Given the description of an element on the screen output the (x, y) to click on. 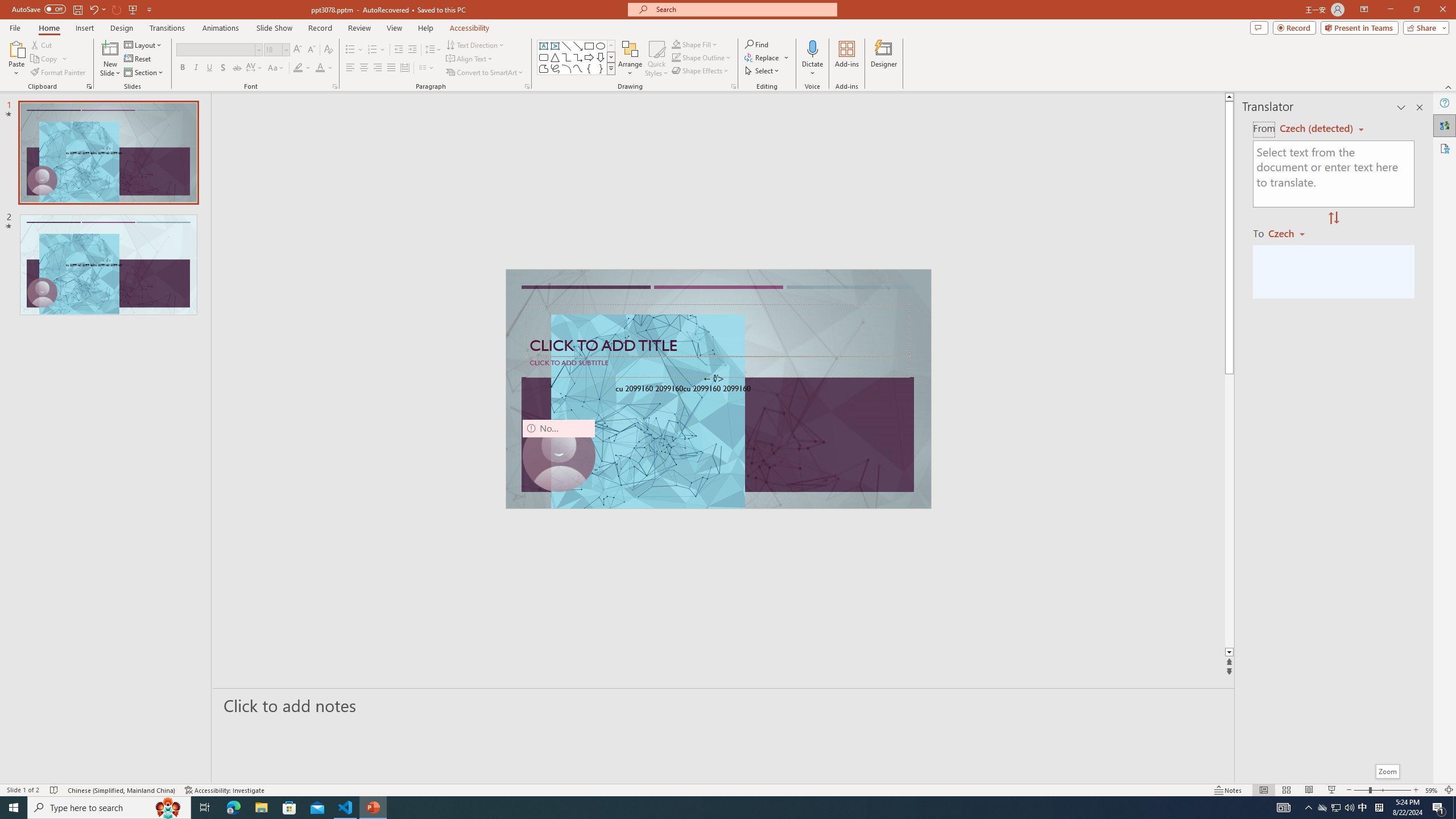
An abstract genetic concept (718, 388)
